Given the description of an element on the screen output the (x, y) to click on. 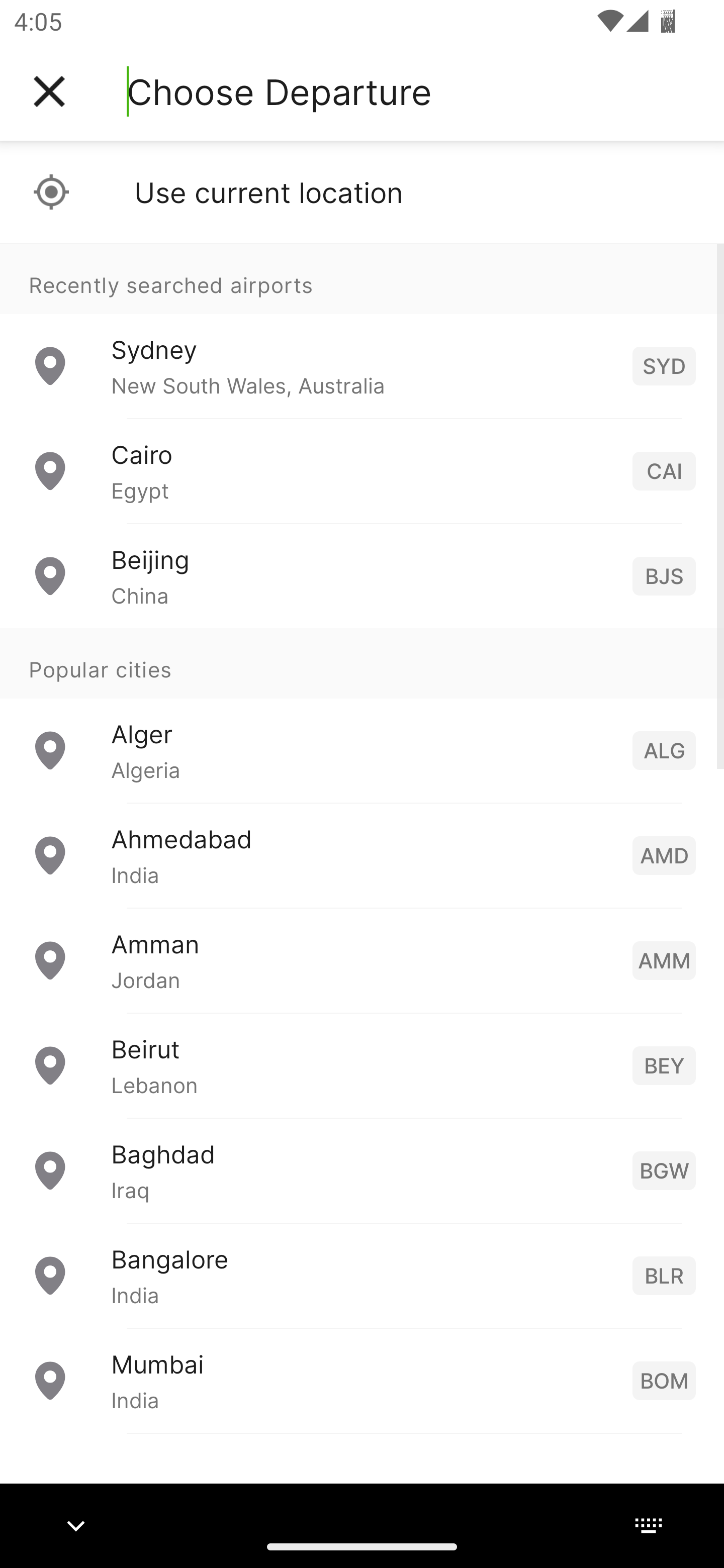
Choose Departure (279, 91)
Use current location (362, 192)
Recently searched airports (362, 278)
Cairo Egypt CAI (362, 470)
Beijing China BJS (362, 575)
Popular cities Alger Algeria ALG (362, 715)
Popular cities (362, 663)
Ahmedabad India AMD (362, 854)
Amman Jordan AMM (362, 959)
Beirut Lebanon BEY (362, 1064)
Baghdad Iraq BGW (362, 1170)
Bangalore India BLR (362, 1275)
Mumbai India BOM (362, 1380)
